Given the description of an element on the screen output the (x, y) to click on. 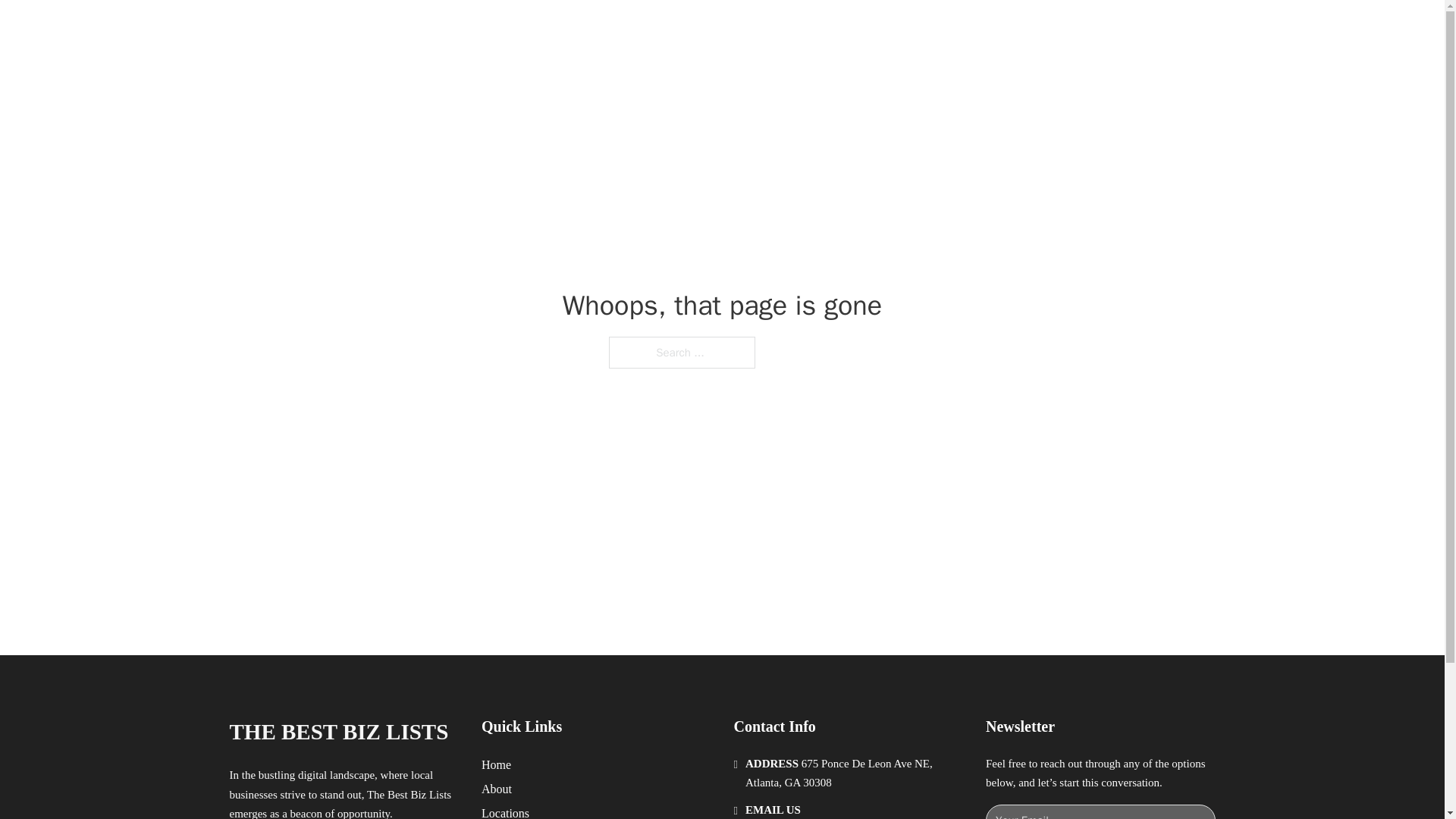
THE BEST BIZ LISTS (410, 28)
Home (496, 764)
About (496, 788)
THE BEST BIZ LISTS (338, 732)
Locations (505, 811)
